Given the description of an element on the screen output the (x, y) to click on. 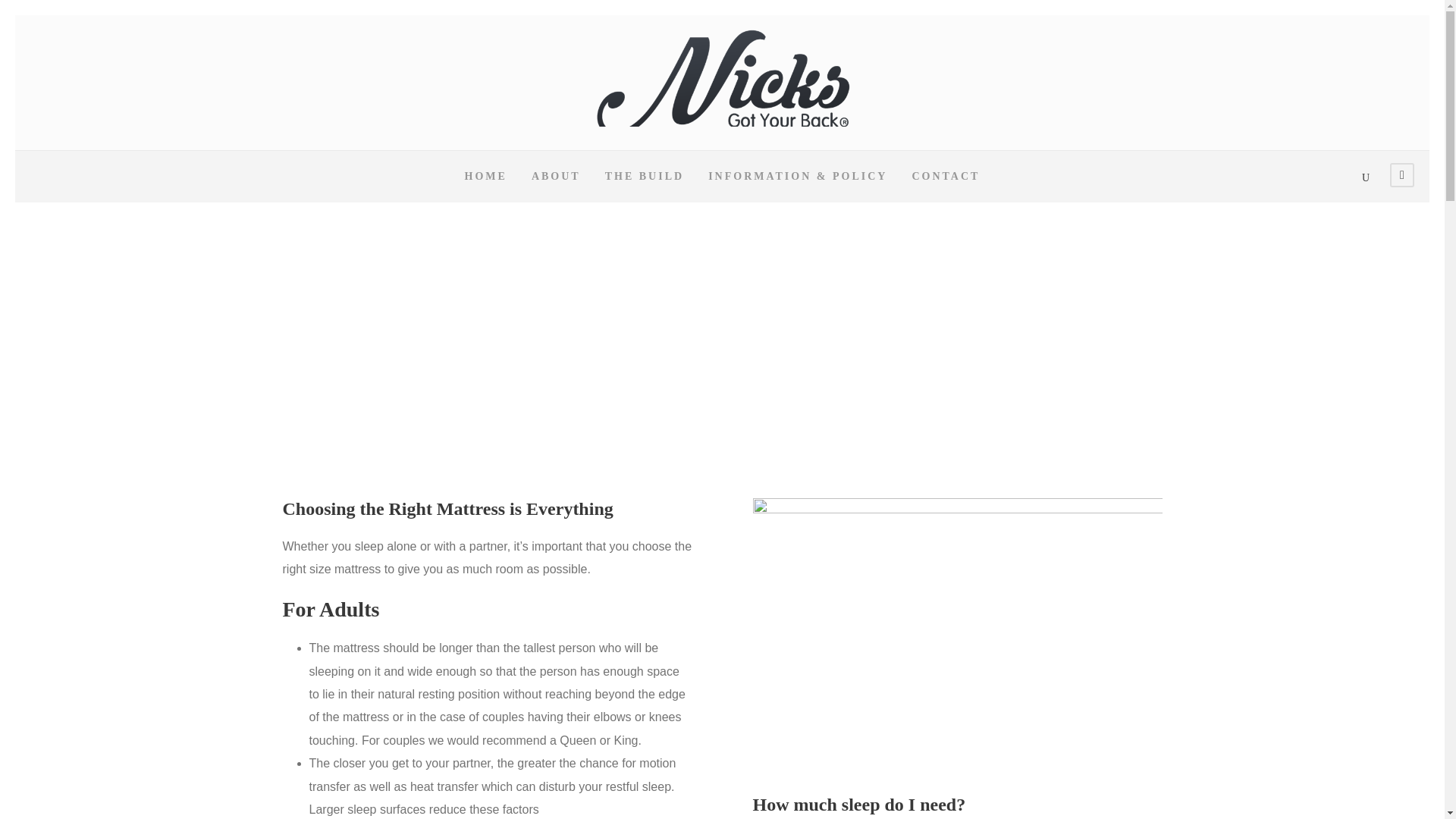
HOME (485, 184)
CONTACT (945, 184)
ABOUT (555, 184)
THE BUILD (644, 184)
